Given the description of an element on the screen output the (x, y) to click on. 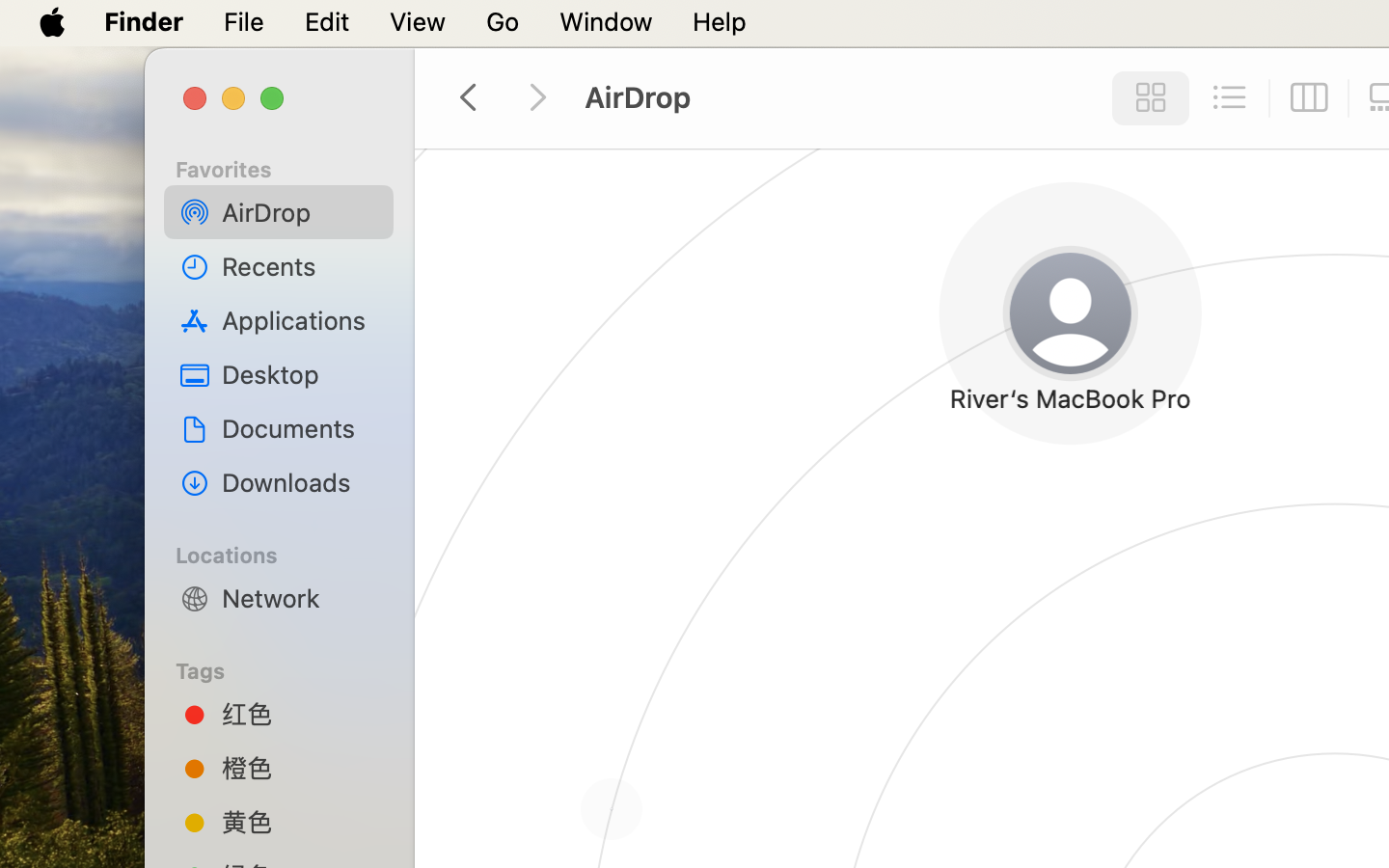
Favorites Element type: AXStaticText (289, 166)
